Given the description of an element on the screen output the (x, y) to click on. 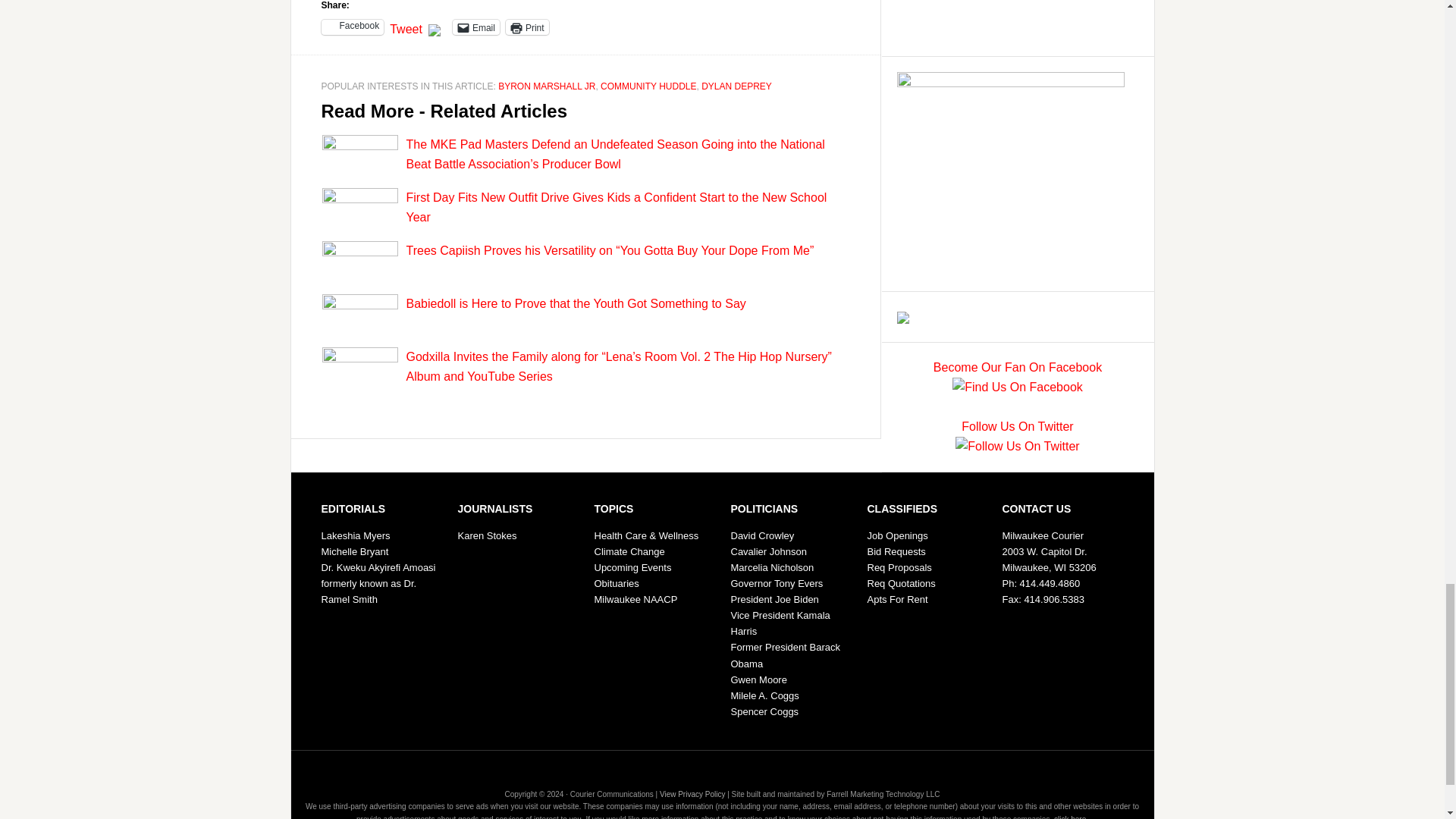
Print (526, 27)
BYRON MARSHALL JR (546, 86)
COMMUNITY HUDDLE (647, 86)
Click to email a link to a friend (475, 27)
Click to share on Facebook (352, 27)
Facebook (352, 27)
Tweet (406, 26)
DYLAN DEPREY (736, 86)
Click to print (526, 27)
Email (475, 27)
